Given the description of an element on the screen output the (x, y) to click on. 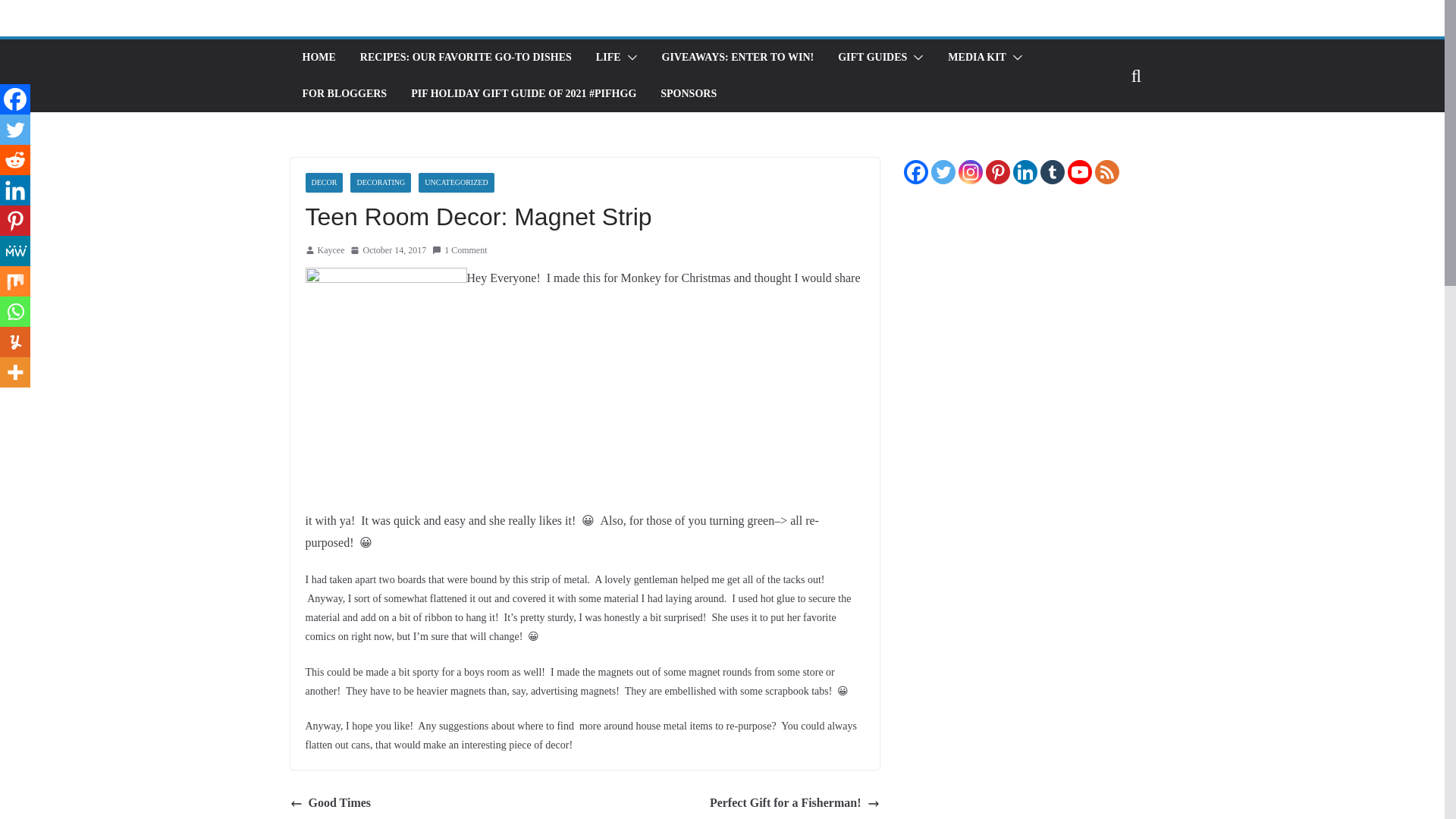
Pinterest (15, 220)
RECIPES: OUR FAVORITE GO-TO DISHES (465, 56)
GIVEAWAYS: ENTER TO WIN! (737, 56)
Kaycee (330, 250)
FOR BLOGGERS (344, 93)
Whatsapp (15, 311)
GIFT GUIDES (872, 56)
Facebook (15, 99)
LIFE (608, 56)
DECOR (323, 182)
